Given the description of an element on the screen output the (x, y) to click on. 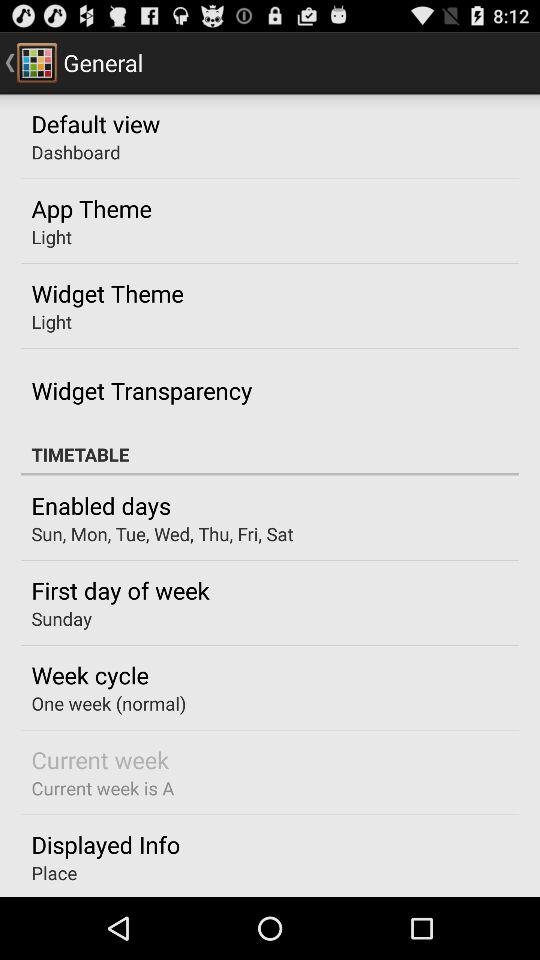
swipe to sun mon tue (162, 533)
